Given the description of an element on the screen output the (x, y) to click on. 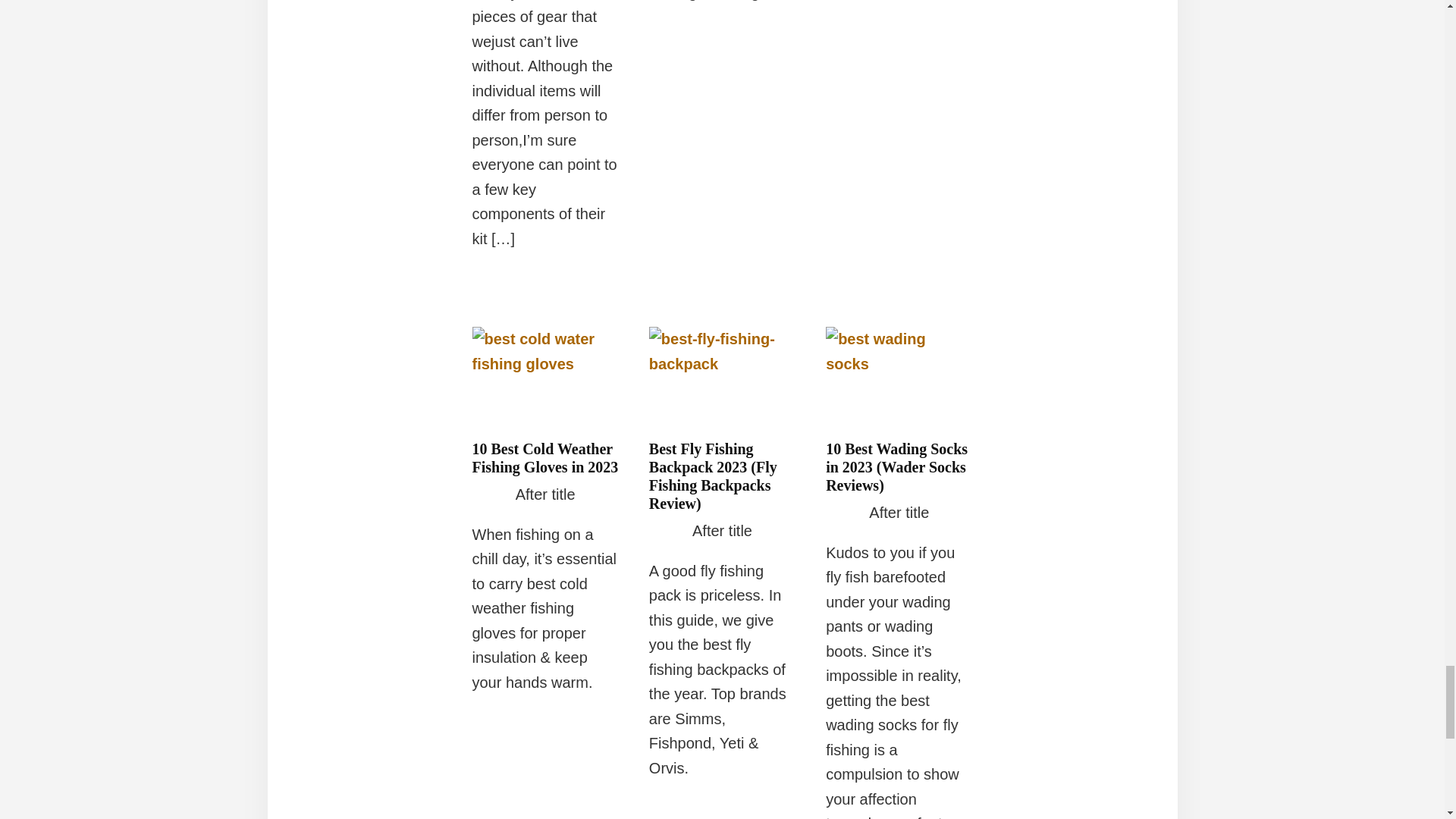
10 Best Cold Weather Fishing Gloves in 2023 (544, 457)
